Given the description of an element on the screen output the (x, y) to click on. 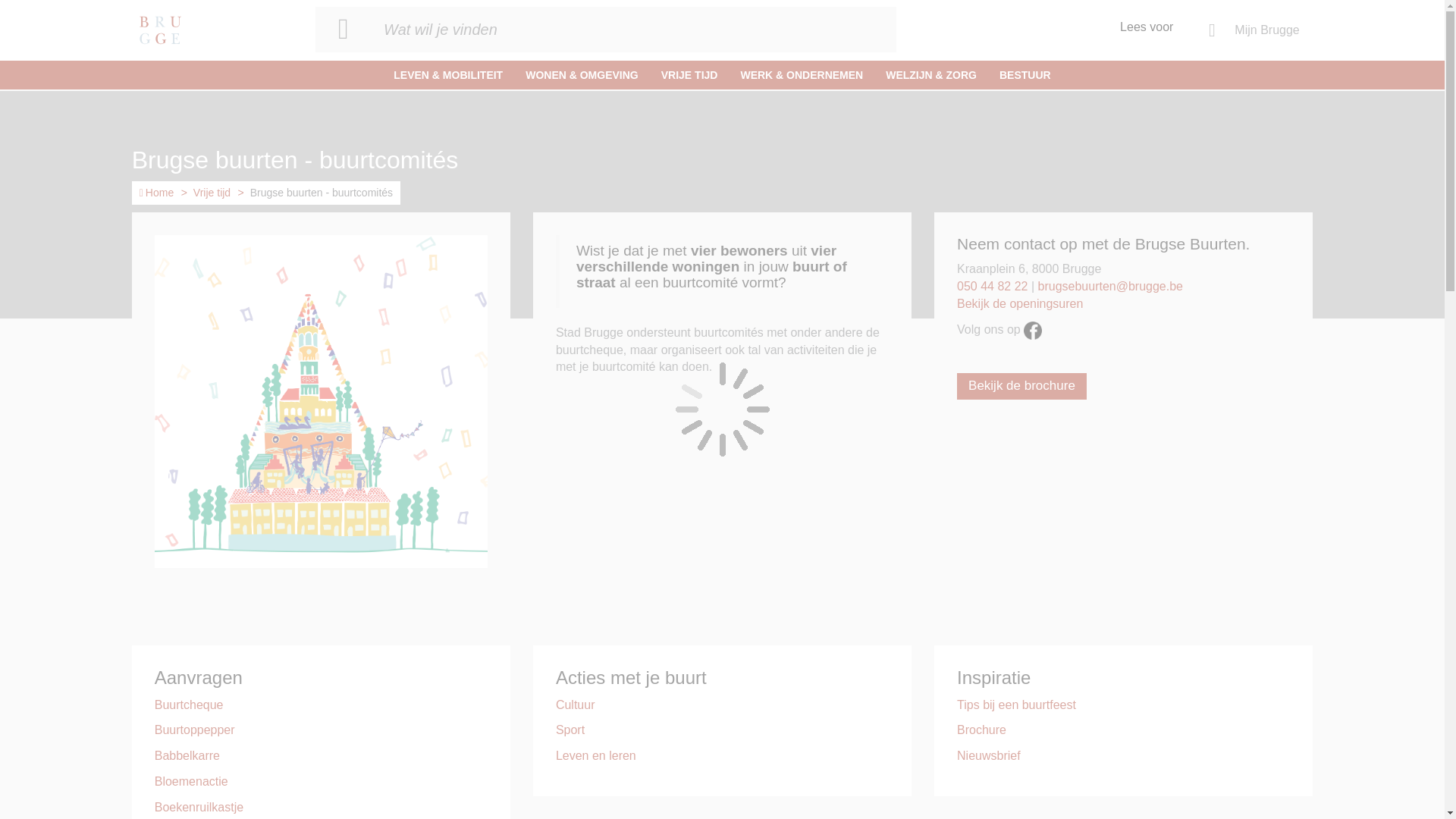
Ga naar de startpagina Element type: hover (159, 30)
brugsebuurten@brugge.be Element type: text (1110, 285)
Vrije tijd Element type: text (211, 192)
Nieuwsbrief Element type: text (988, 755)
Bekijk de brochure Element type: text (1021, 385)
VRIJE TIJD Element type: text (689, 74)
Babbelkarre Element type: text (186, 755)
Leven en leren Element type: text (595, 755)
Cultuur Element type: text (575, 704)
Buurtoppepper Element type: text (194, 729)
WERK & ONDERNEMEN Element type: text (801, 74)
Home Element type: text (156, 192)
Volg ons op facebook Element type: hover (1032, 329)
LEVEN & MOBILITEIT Element type: text (448, 74)
Bloemenactie Element type: text (191, 781)
050 44 82 22 Element type: text (992, 285)
WONEN & OMGEVING Element type: text (581, 74)
Brochure Element type: text (981, 729)
Lees voor Element type: text (1150, 18)
Sport Element type: text (569, 729)
Tips bij een buurtfeest Element type: text (1016, 704)
BESTUUR Element type: text (1025, 74)
Buurtcheque Element type: text (188, 704)
WELZIJN & ZORG Element type: text (931, 74)
Bekijk de openingsuren Element type: text (1019, 303)
Boekenruilkastje Element type: text (198, 806)
